Given the description of an element on the screen output the (x, y) to click on. 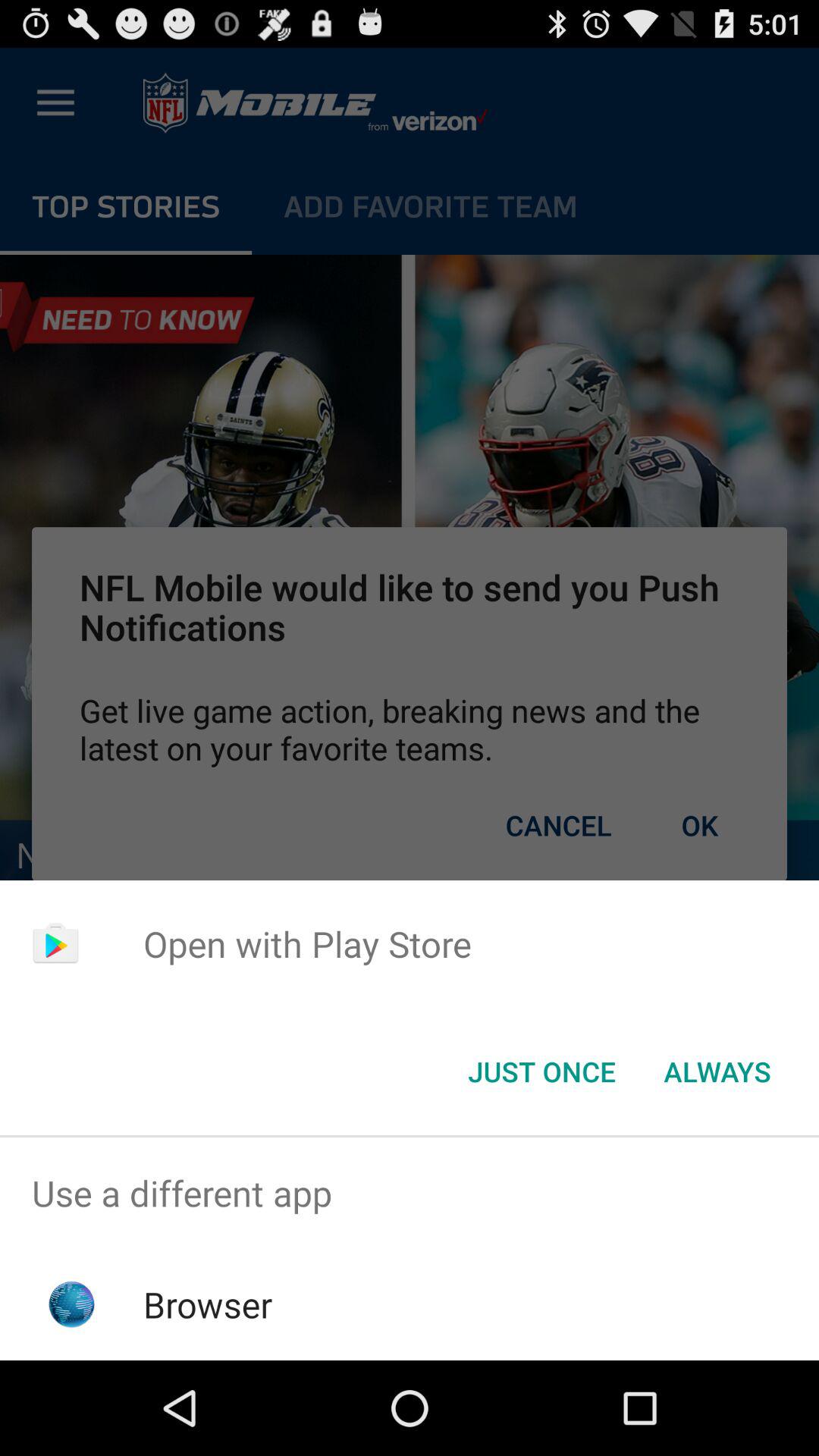
turn off the use a different icon (409, 1192)
